Given the description of an element on the screen output the (x, y) to click on. 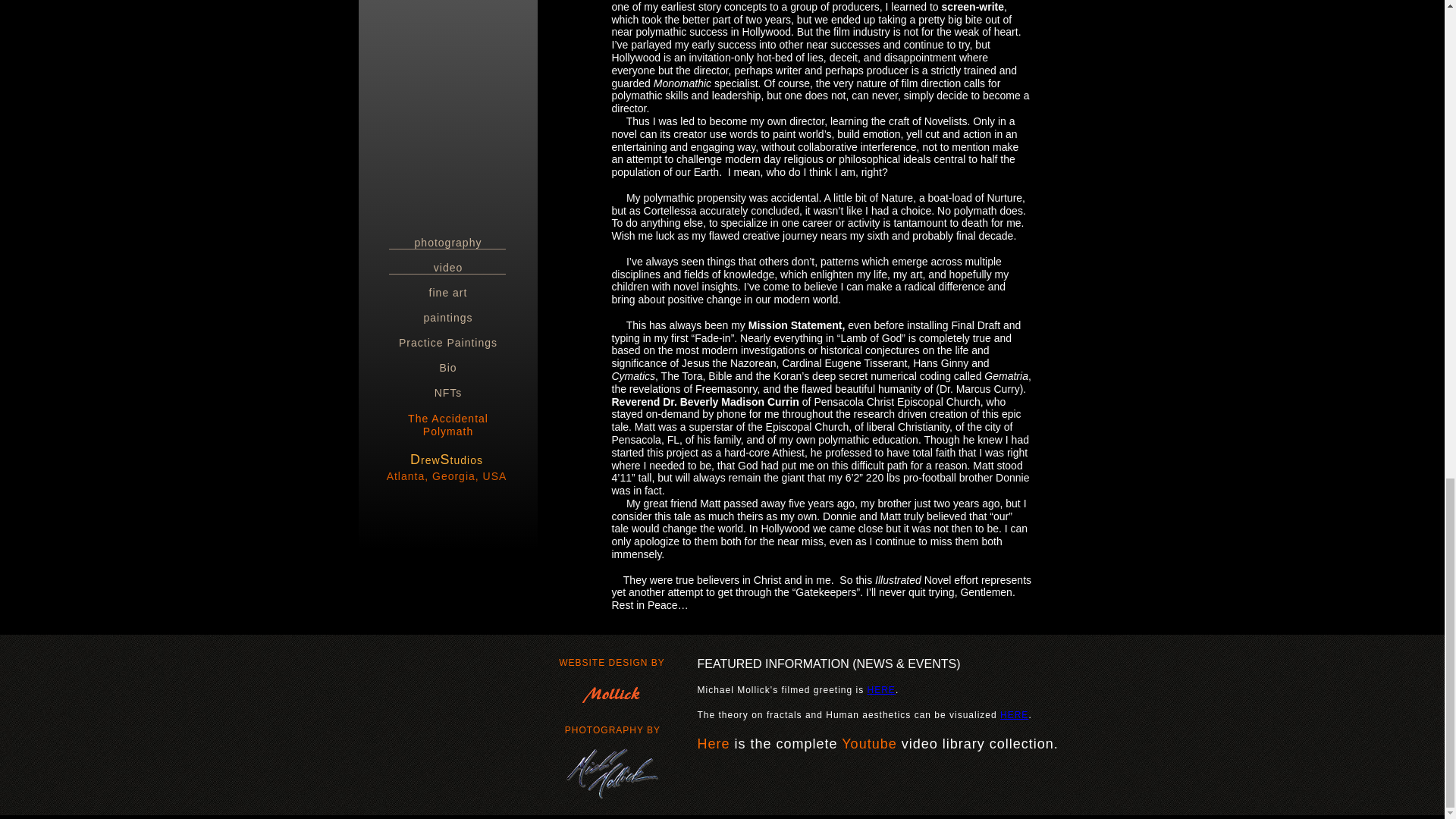
WEBSITE DESIGN BY (612, 662)
PHOTOGRAPHY BY (612, 729)
Here (713, 745)
HERE (1013, 715)
HERE (881, 689)
Youtube (868, 745)
